Given the description of an element on the screen output the (x, y) to click on. 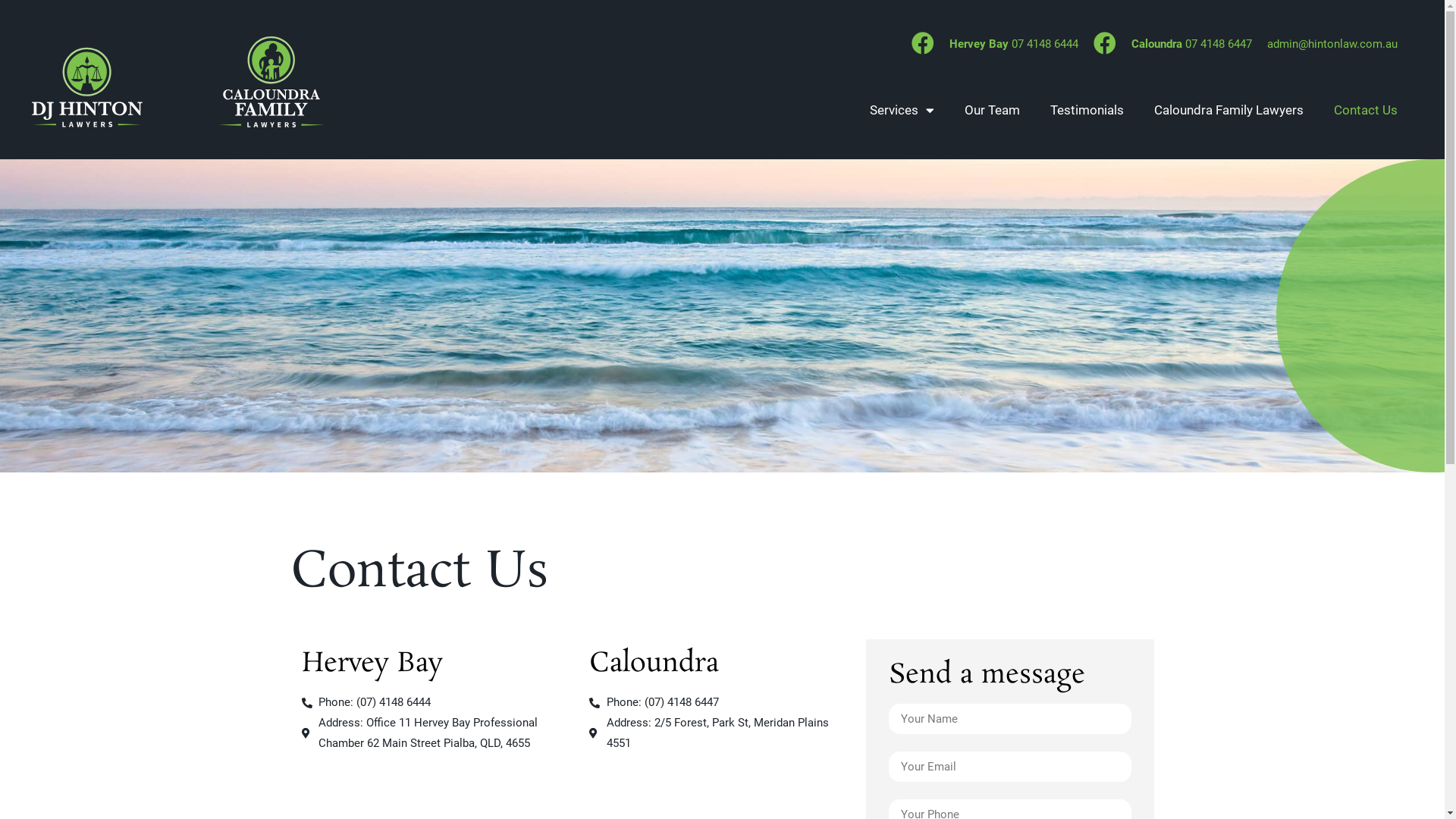
Contact Us Element type: text (1365, 109)
Phone: (07) 4148 6447 Element type: text (721, 702)
Testimonials Element type: text (1087, 109)
07 4148 6444 Element type: text (1044, 43)
Phone: (07) 4148 6444 Element type: text (434, 702)
admin@hintonlaw.com.au Element type: text (1332, 43)
Services Element type: text (901, 109)
Address: 2/5 Forest, Park St, Meridan Plains 4551 Element type: text (721, 732)
07 4148 6447 Element type: text (1218, 43)
Caloundra Family Lawyers Element type: text (1228, 109)
Our Team Element type: text (992, 109)
